Given the description of an element on the screen output the (x, y) to click on. 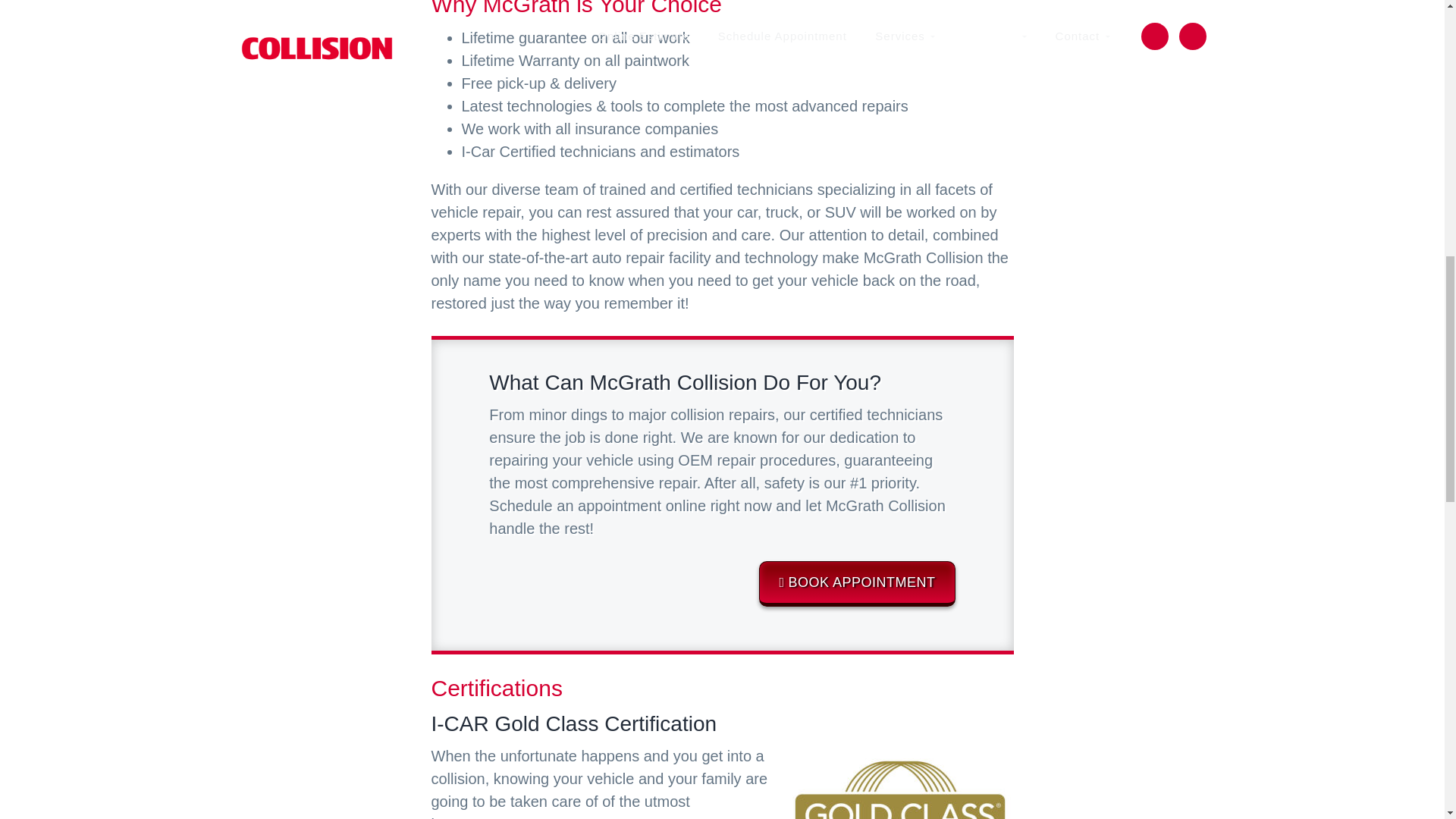
BOOK APPOINTMENT (856, 583)
